Given the description of an element on the screen output the (x, y) to click on. 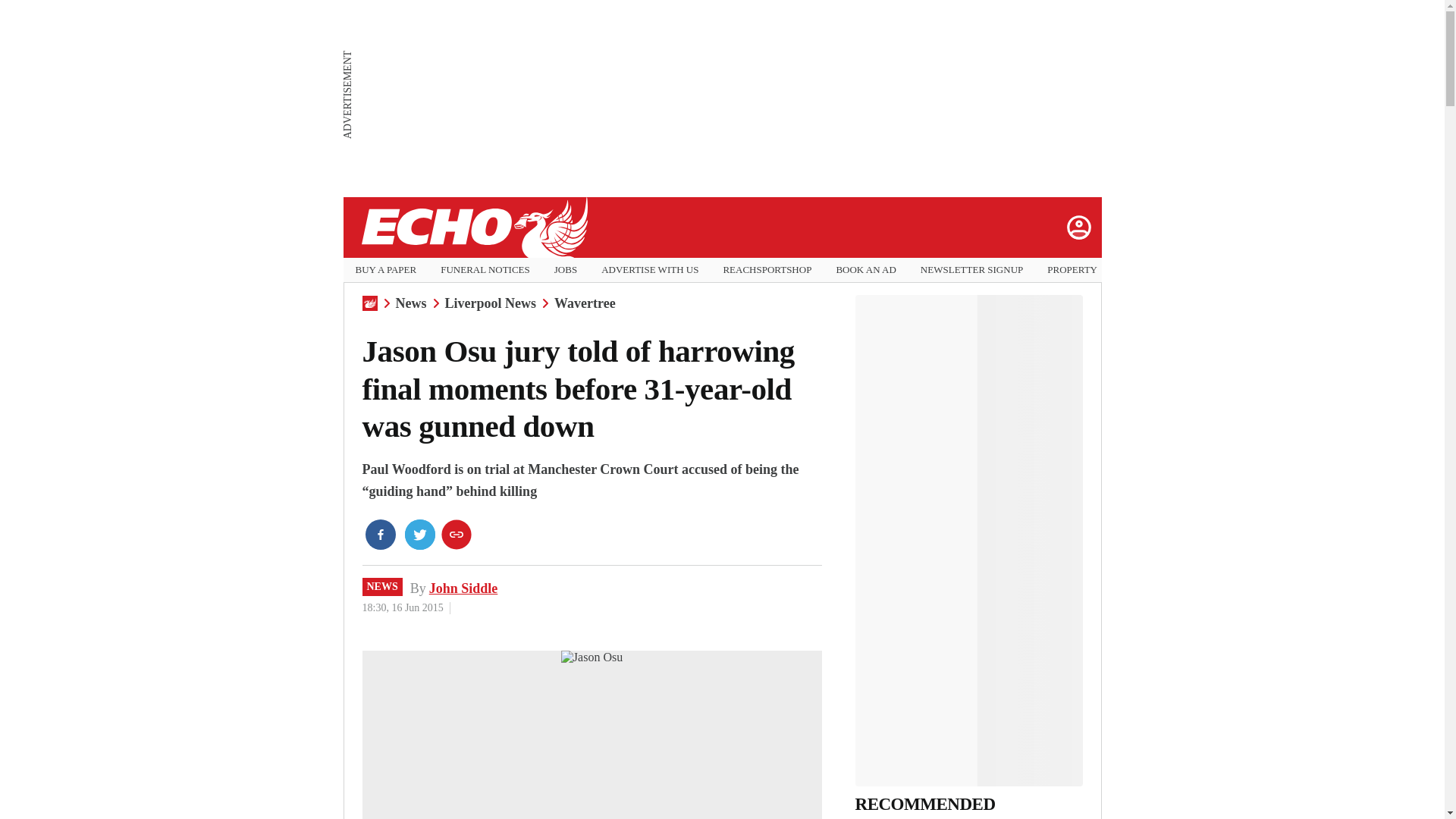
Go to the Liverpool Echo homepage (473, 227)
NEWS (382, 587)
copy link (456, 534)
News (411, 303)
BUY A PAPER (385, 270)
JOBS (565, 270)
PROPERTY (1071, 270)
John Siddle (463, 588)
BOOK AN AD (865, 270)
Wavertree (584, 303)
NEWSLETTER SIGNUP (971, 270)
Liverpool News (489, 303)
avatar (1077, 227)
REACHSPORTSHOP (766, 270)
ADVERTISE WITH US (649, 270)
